Given the description of an element on the screen output the (x, y) to click on. 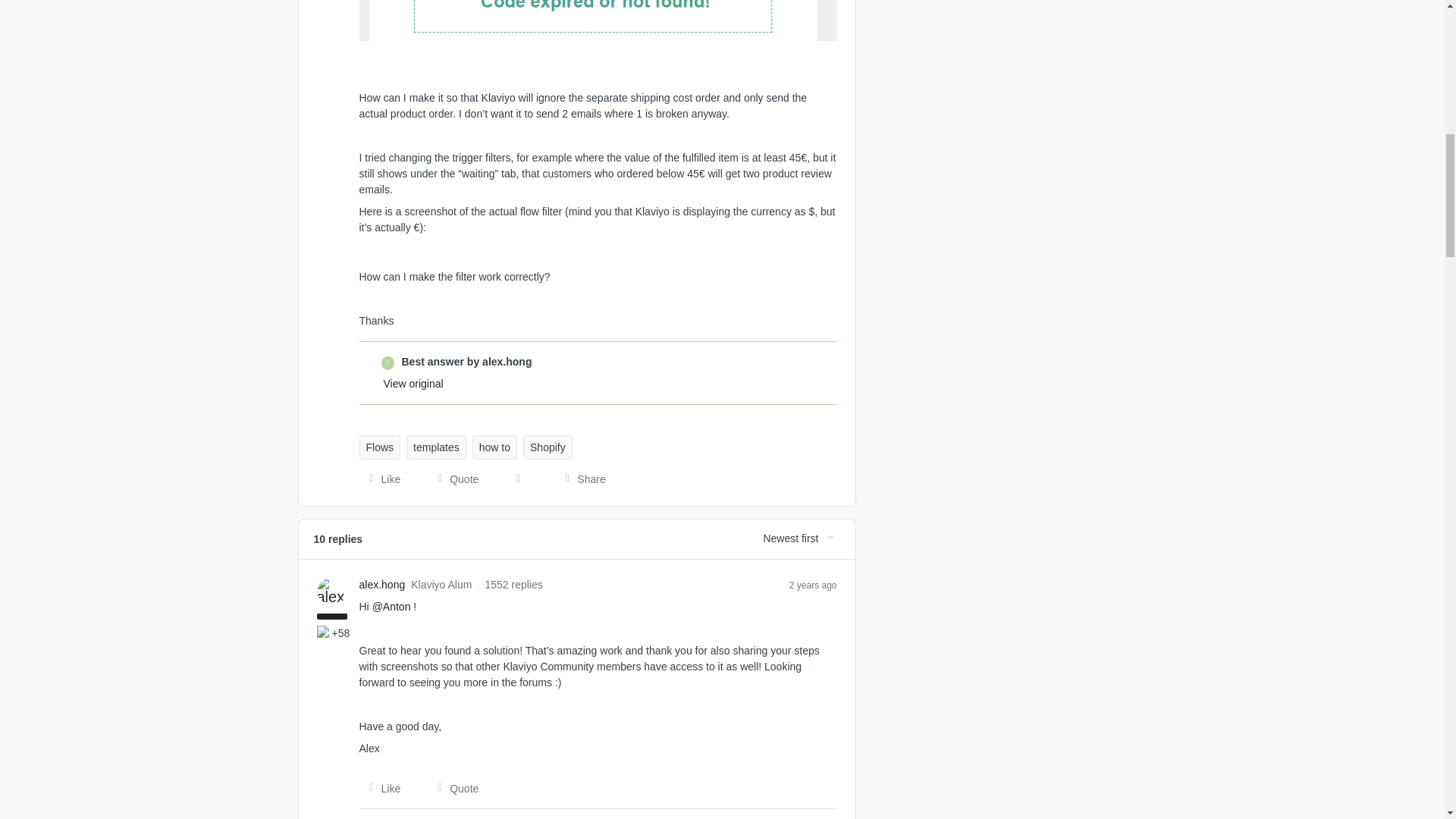
Flows (380, 446)
Shopify (547, 446)
alex.hong (382, 584)
alex.hong (382, 584)
2 years ago (813, 584)
Like (380, 478)
Industry Specialist 3 (324, 632)
View original (414, 383)
Quote (453, 478)
Quote (453, 788)
how to (493, 446)
templates (435, 446)
Like (380, 788)
